Given the description of an element on the screen output the (x, y) to click on. 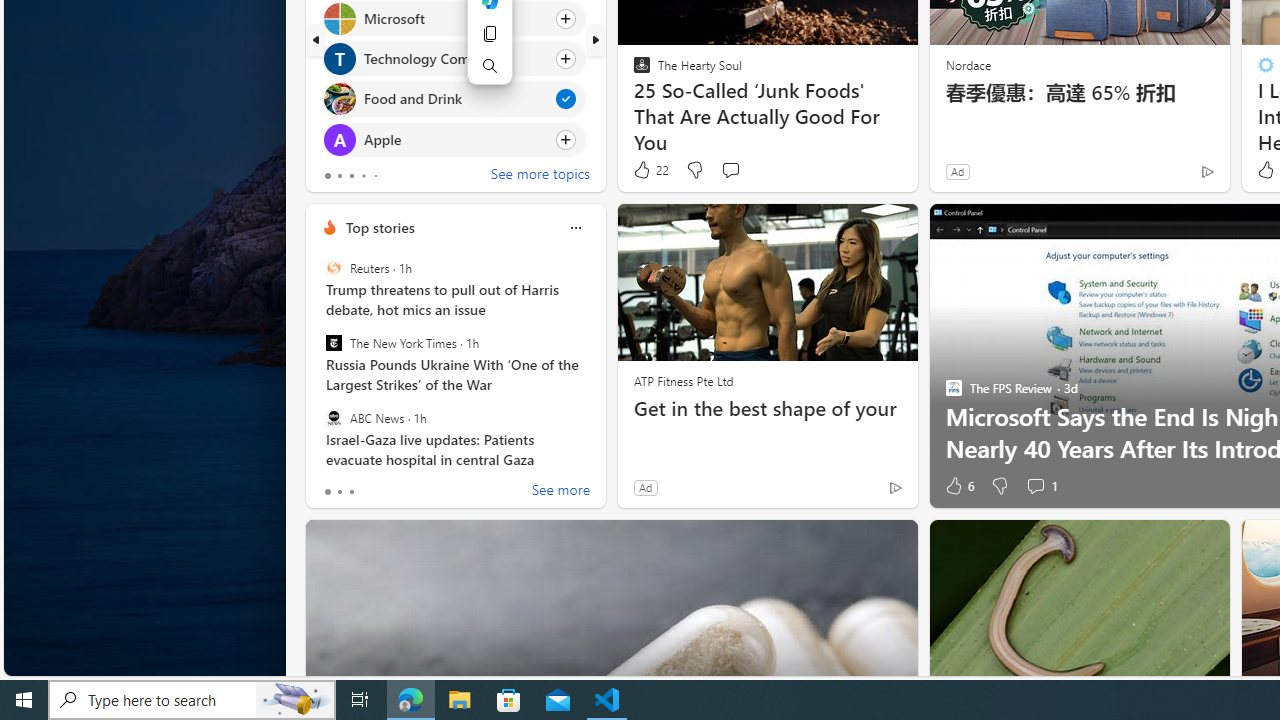
tab-0 (327, 491)
Top stories (379, 227)
previous (315, 39)
View comments 1 Comment (1041, 485)
